Given the description of an element on the screen output the (x, y) to click on. 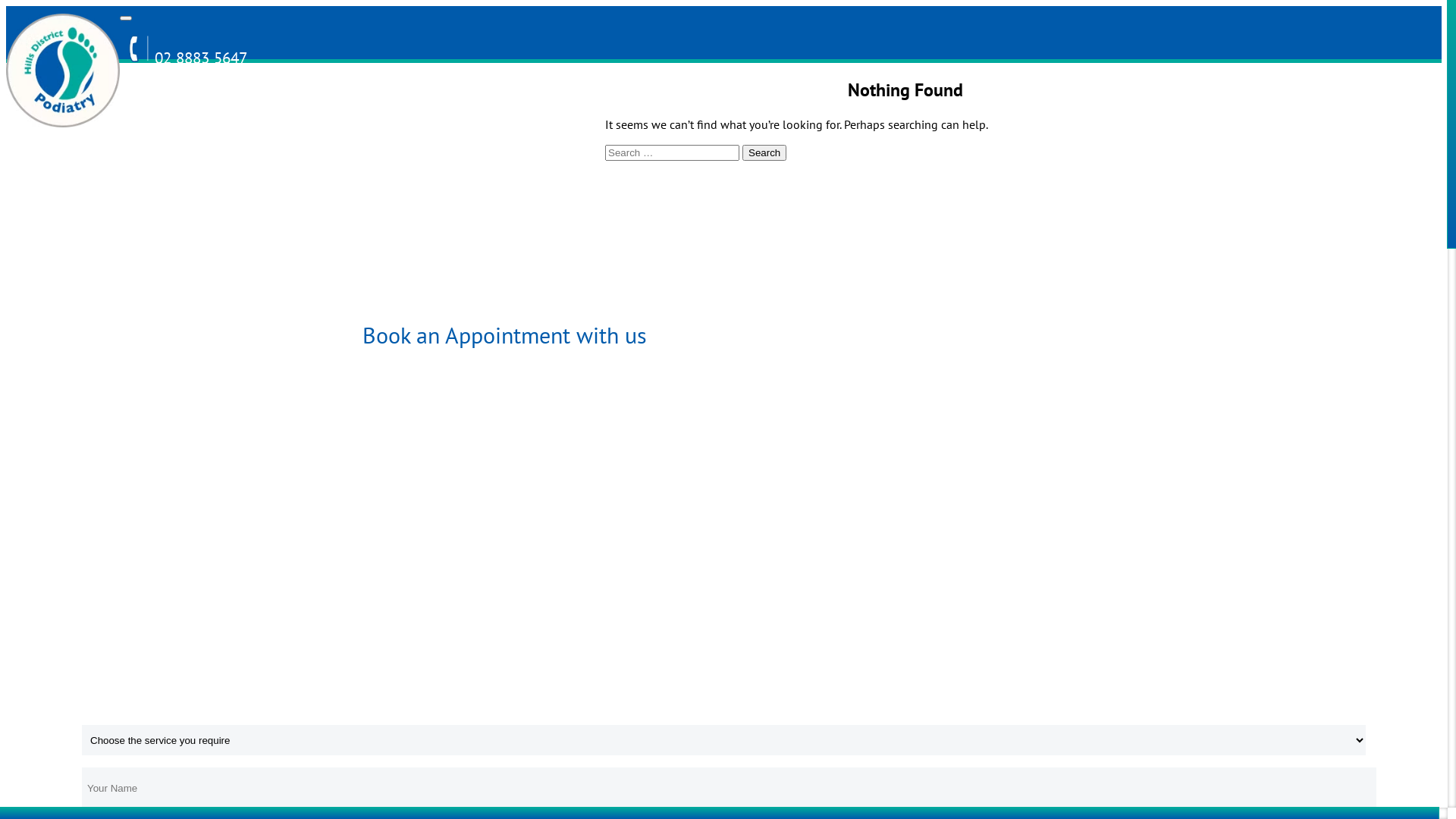
Nail Surgery, Nail Bracing and Fungal Infections Element type: text (330, 220)
Heel pain Element type: text (569, 167)
Nail Bracing Element type: text (563, 243)
Ingrown Toenails Element type: text (566, 201)
Shockwave Therapy Element type: text (573, 284)
Pediatrics and Lower Limb Development Element type: text (336, 379)
Diabetes and General Footcare Element type: text (323, 307)
Blog Element type: text (544, 91)
Home Element type: text (180, 91)
At Home Nail Cutting Element type: text (323, 629)
02 8883 5647 Element type: text (183, 57)
Clinics Element type: text (423, 91)
Biomechanics and Sporting Injuries Element type: text (337, 508)
Contact Element type: text (665, 91)
Custom Made Orthotics Element type: text (324, 444)
Plantar Wart Surgeries Element type: text (325, 686)
Covid19 Element type: text (786, 91)
Podiatrist Home Visits Element type: text (325, 573)
Toggle navigation Element type: text (125, 17)
Search Element type: text (764, 152)
Heel Pain and Shockwave Therapy Element type: text (330, 133)
Services Element type: text (301, 91)
Custom Made Orthotics Element type: text (567, 125)
